Given the description of an element on the screen output the (x, y) to click on. 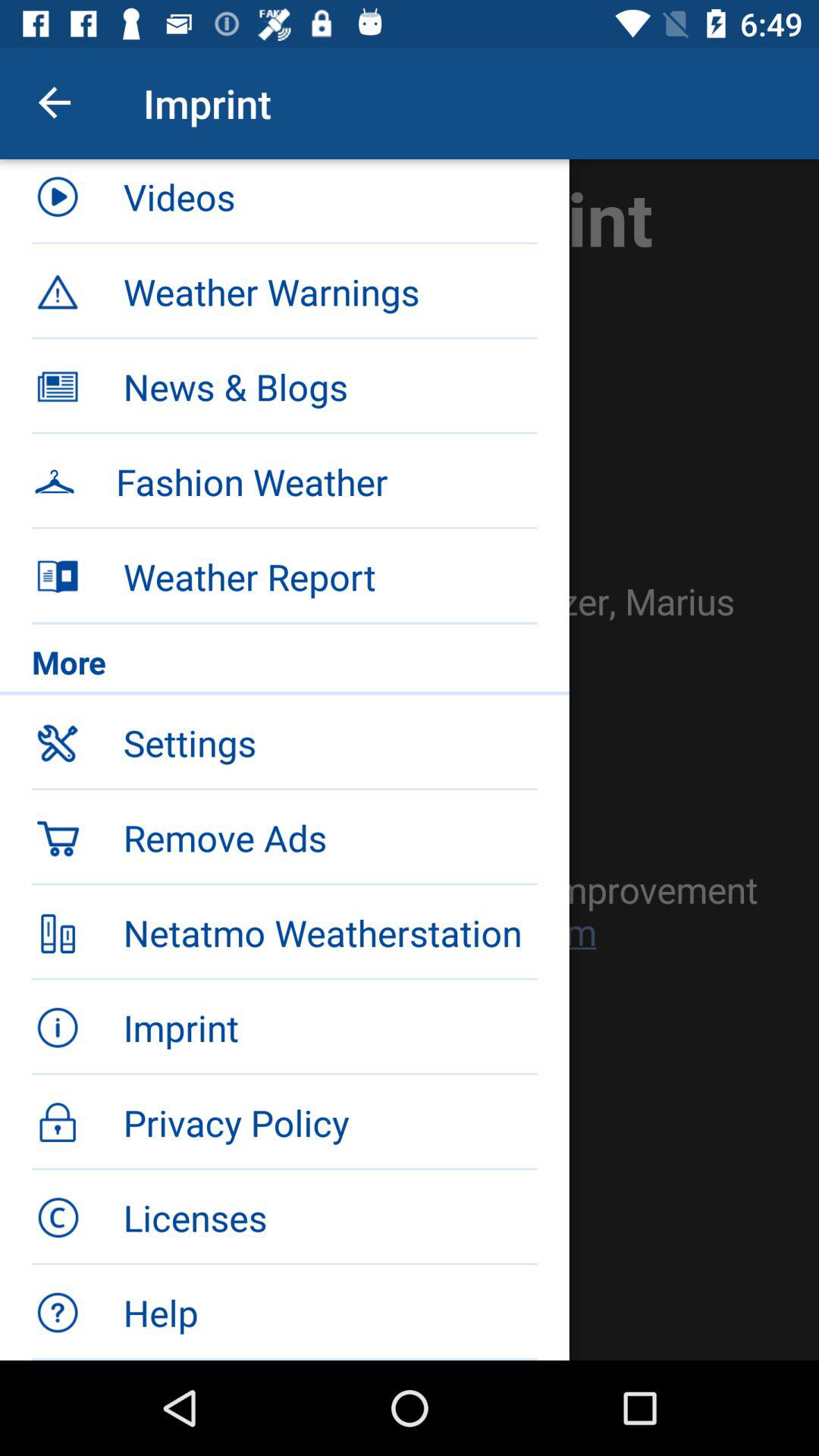
turn off icon above more icon (330, 576)
